Given the description of an element on the screen output the (x, y) to click on. 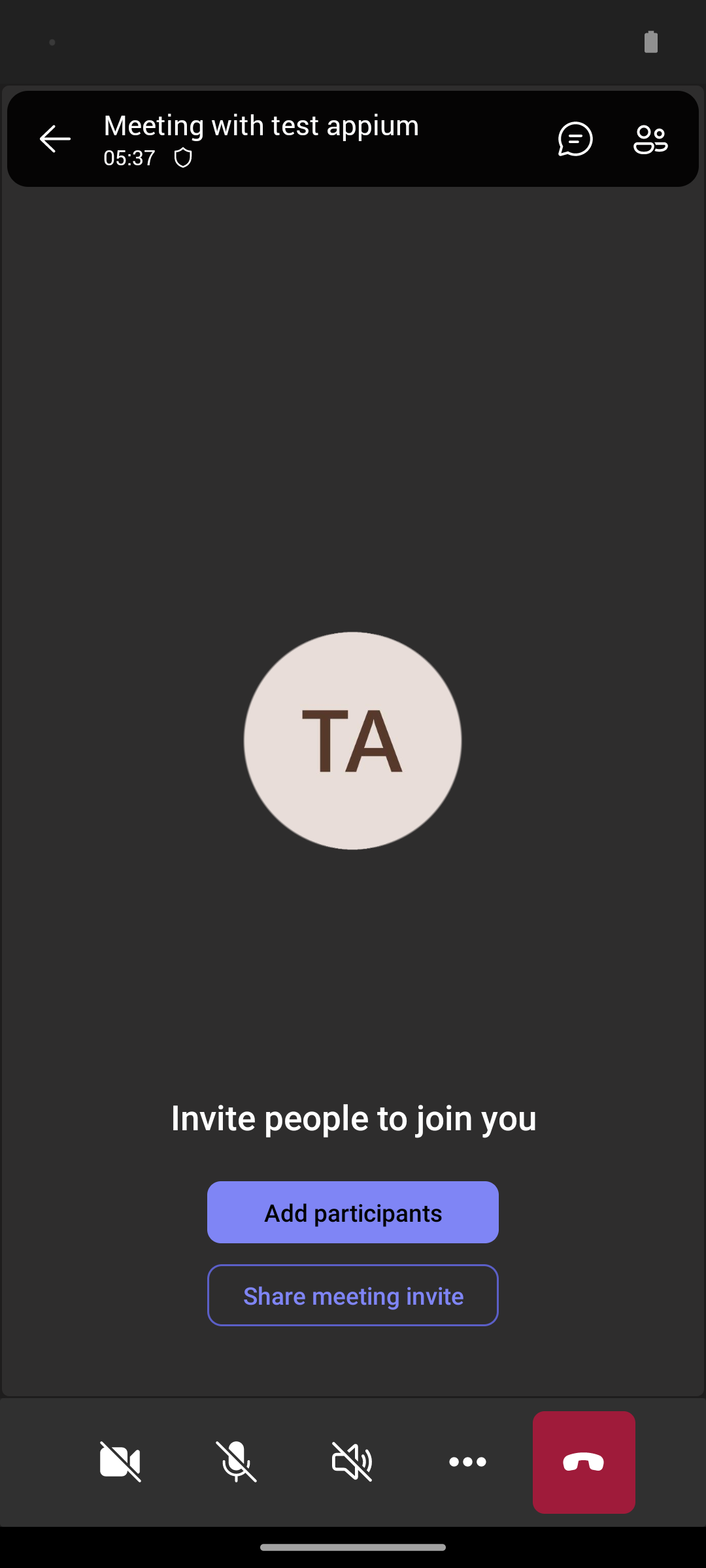
Back (55, 138)
Chat (570, 138)
Show participants (655, 138)
Add participants (352, 1211)
Share meeting invite (352, 1294)
Turn on camera (120, 1462)
Unmute (236, 1462)
Audio (352, 1462)
More options (468, 1462)
Hang up (584, 1462)
